Given the description of an element on the screen output the (x, y) to click on. 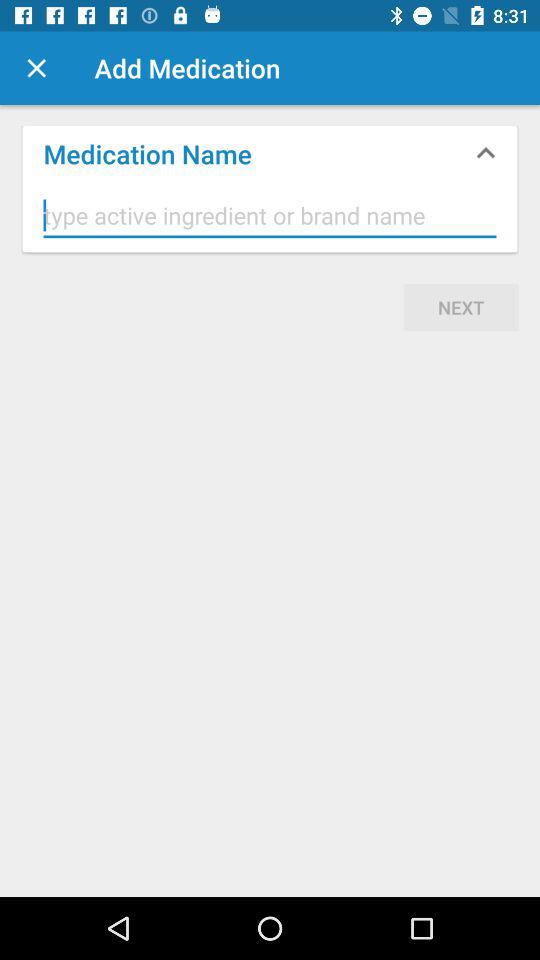
turn off the item at the top left corner (36, 68)
